Given the description of an element on the screen output the (x, y) to click on. 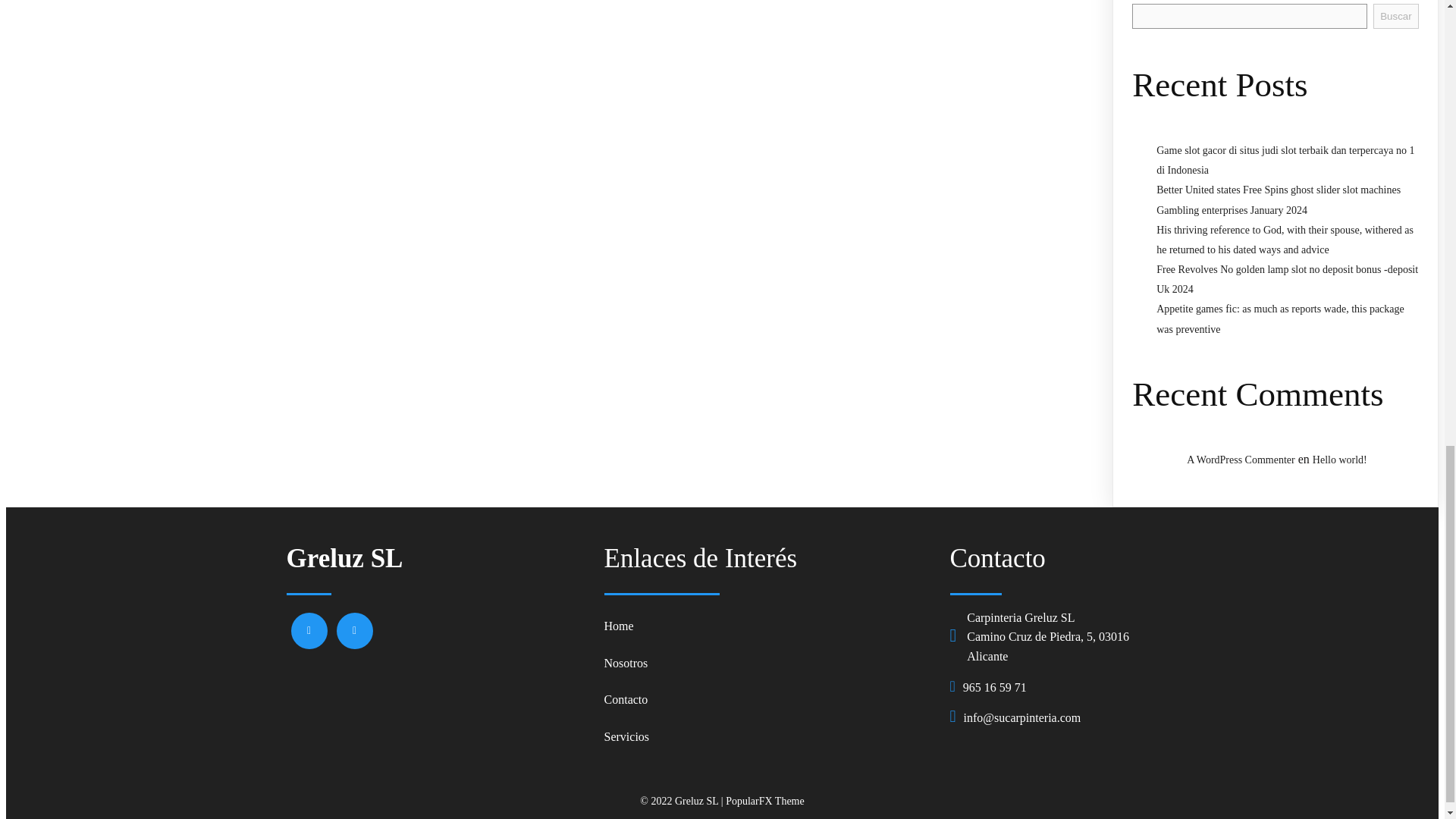
Contacto (769, 700)
PopularFX Theme (765, 800)
A WordPress Commenter (1240, 460)
Servicios (769, 737)
Greluz SL (437, 558)
Buscar (1395, 16)
Nosotros (769, 662)
Hello world! (1340, 460)
